Given the description of an element on the screen output the (x, y) to click on. 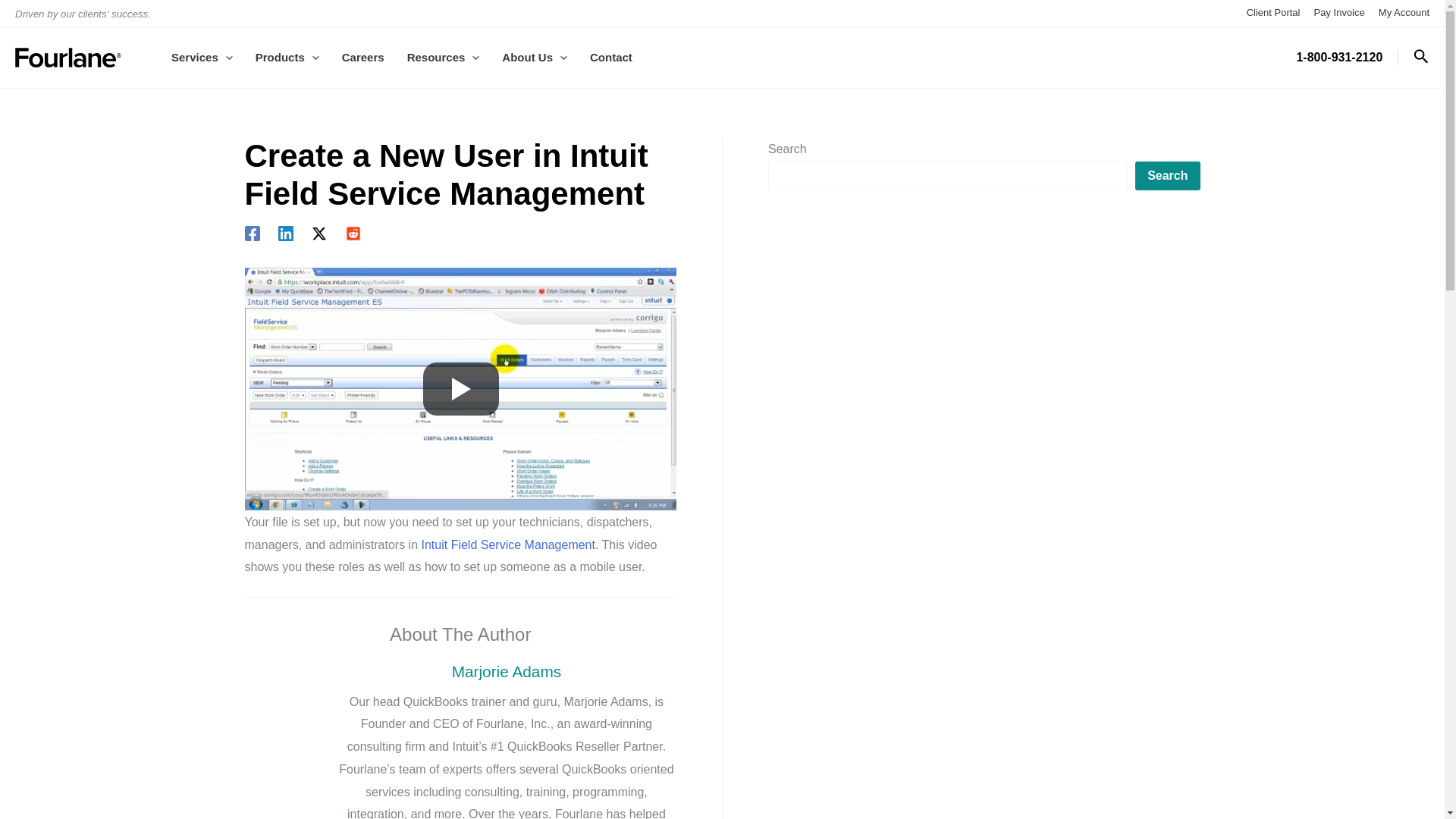
Pay Invoice (1339, 12)
Products (287, 57)
Services (202, 57)
My Account (1403, 12)
Client Portal (1273, 12)
Intuit Field Service Management: Create a New User (460, 388)
